Given the description of an element on the screen output the (x, y) to click on. 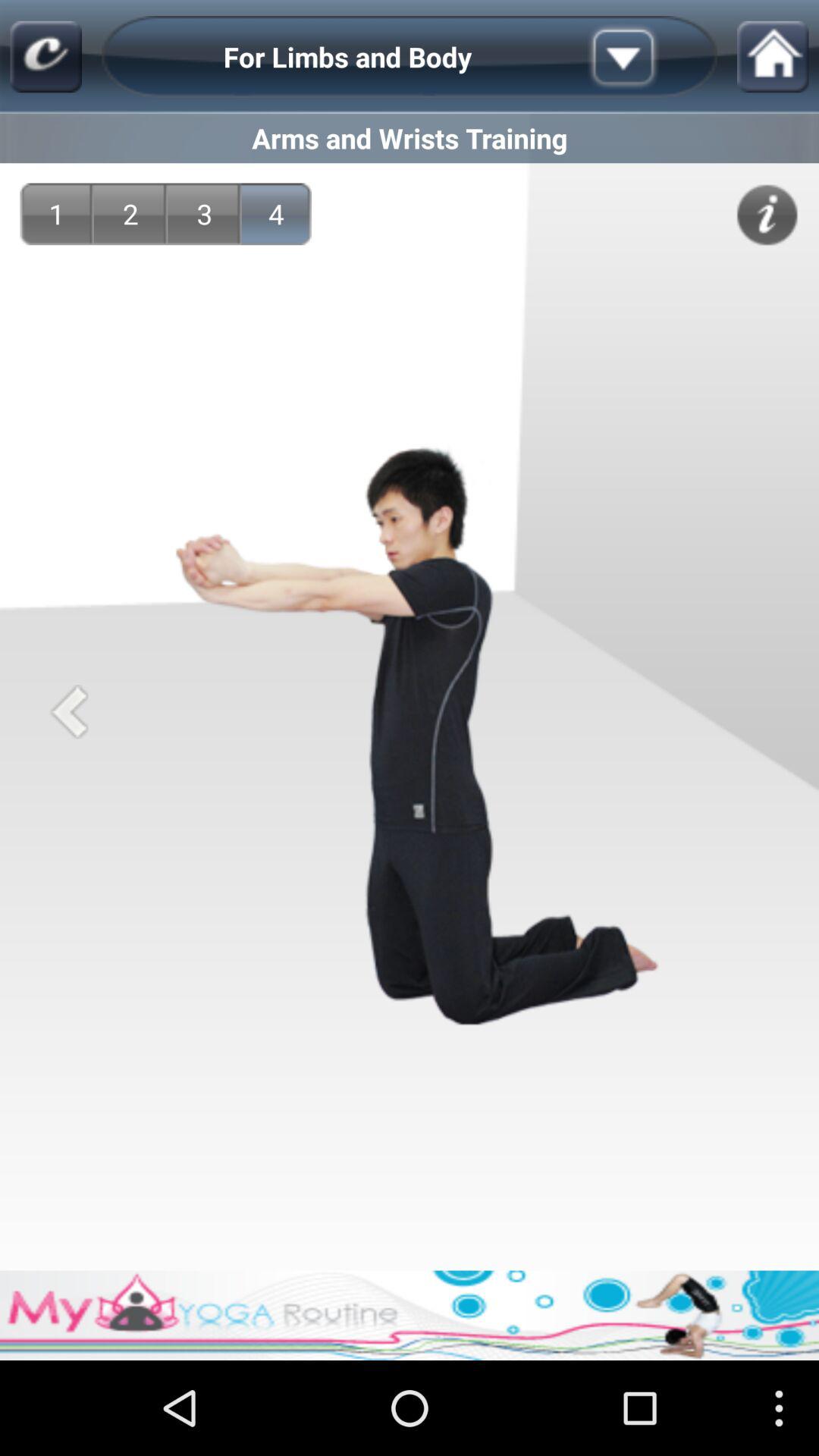
tap the icon next to the 2 icon (204, 214)
